Given the description of an element on the screen output the (x, y) to click on. 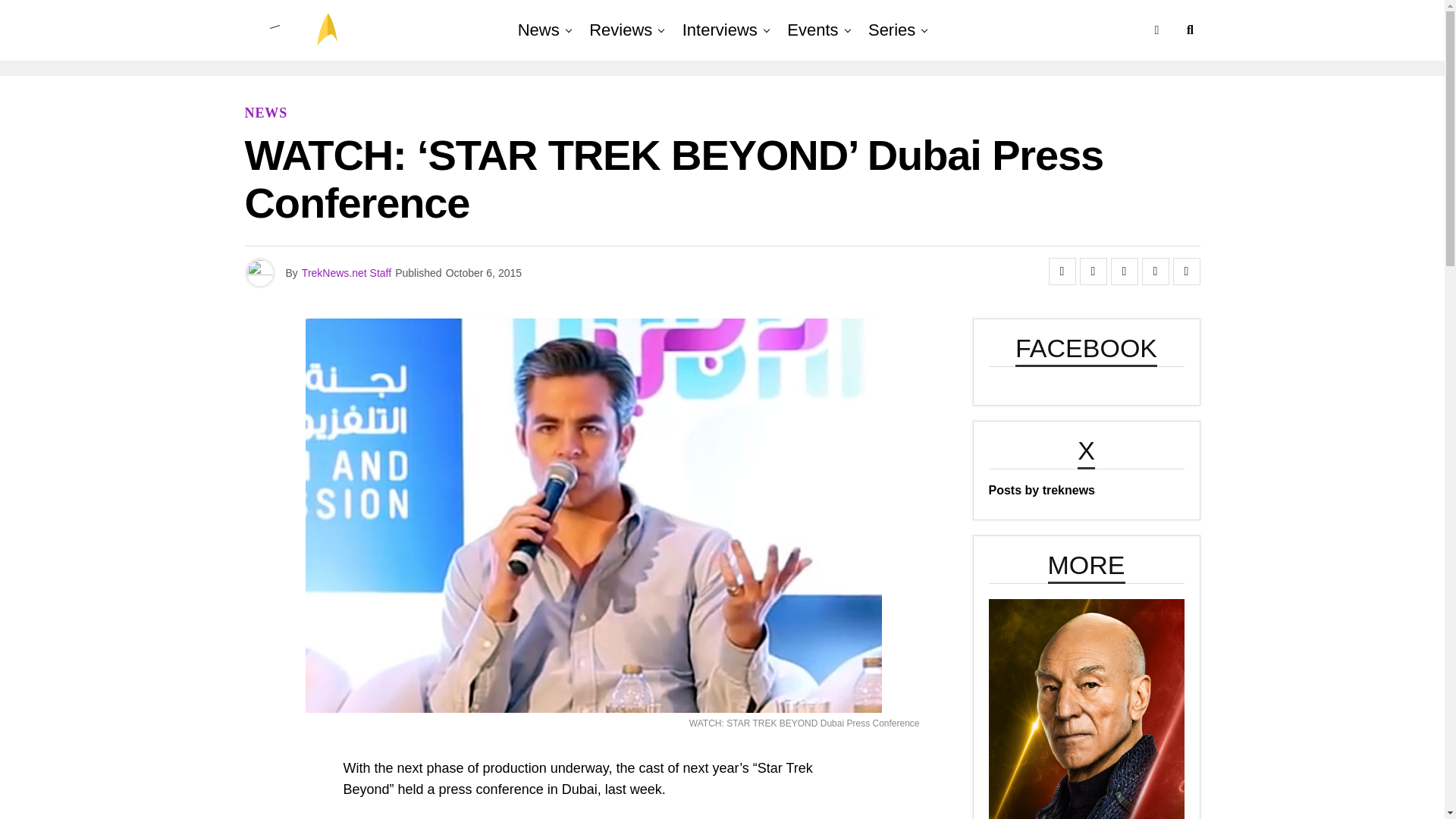
Share on Flipboard (1123, 271)
News (539, 30)
Reviews (619, 30)
Tweet This Post (1093, 271)
Interviews (720, 30)
Reviews (619, 30)
Posts by TrekNews.net Staff (346, 272)
Events (811, 30)
Share on Facebook (1061, 271)
